Given the description of an element on the screen output the (x, y) to click on. 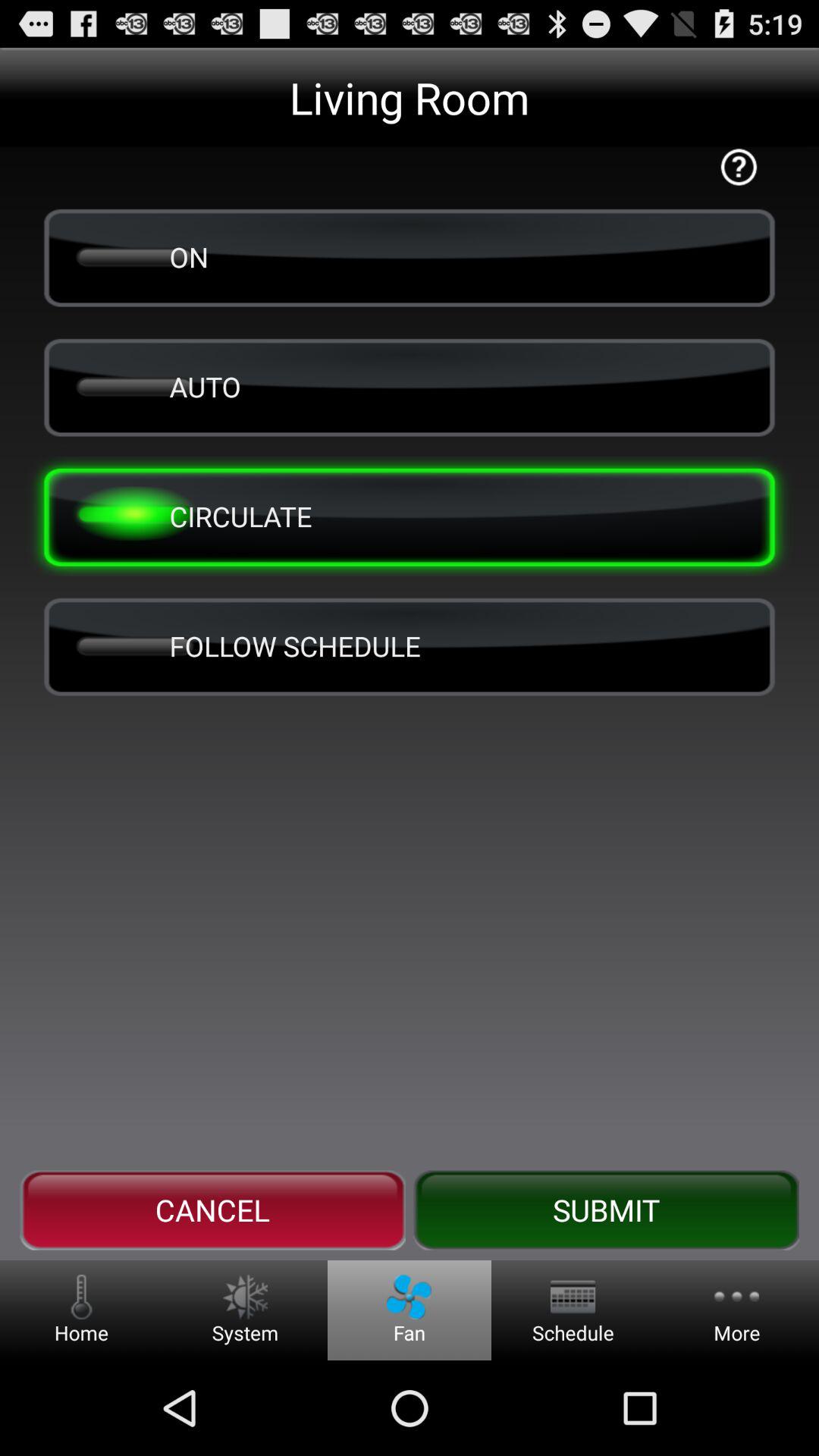
tap the button above the follow schedule (409, 516)
